Given the description of an element on the screen output the (x, y) to click on. 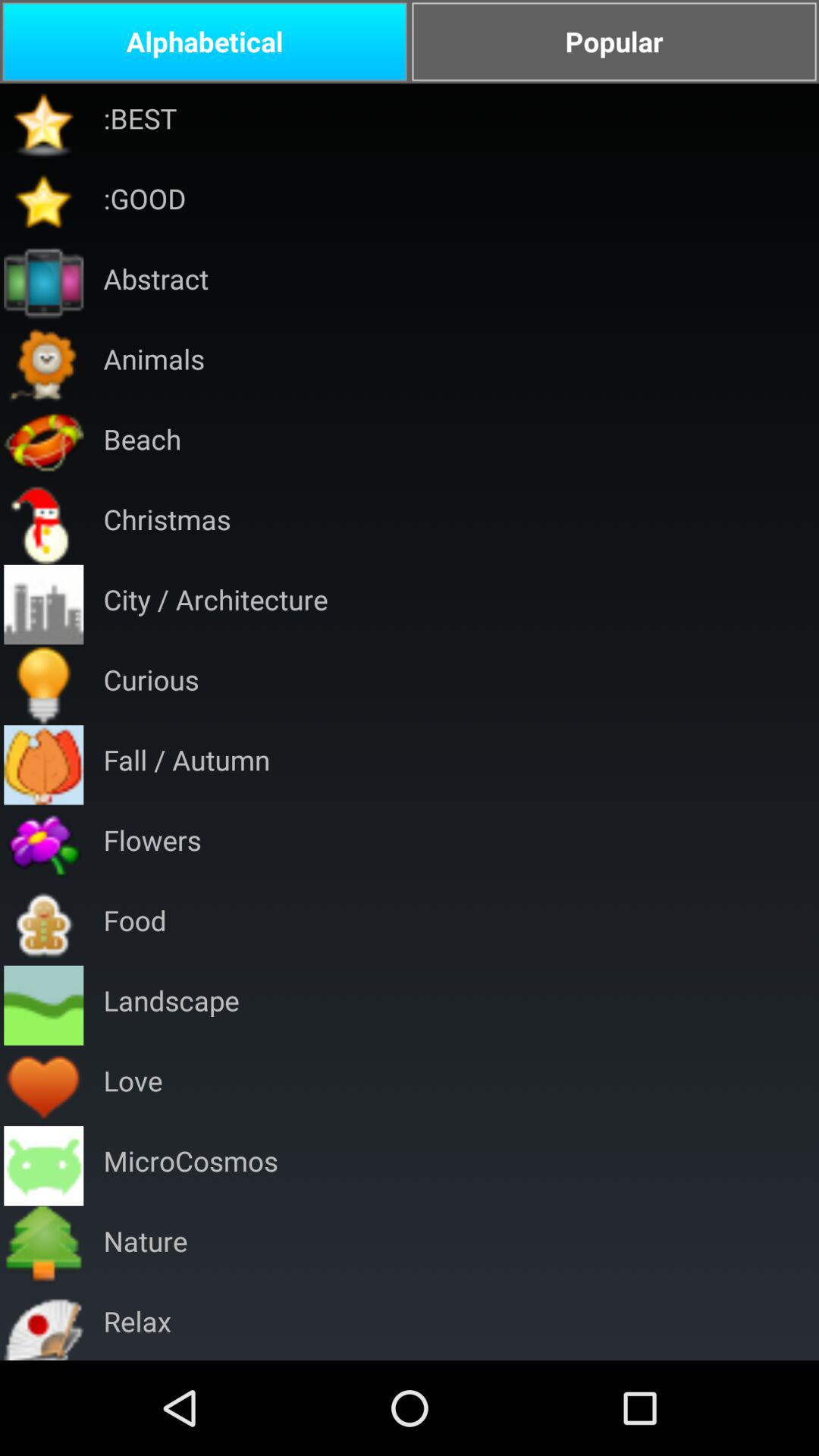
scroll to animals item (153, 363)
